Given the description of an element on the screen output the (x, y) to click on. 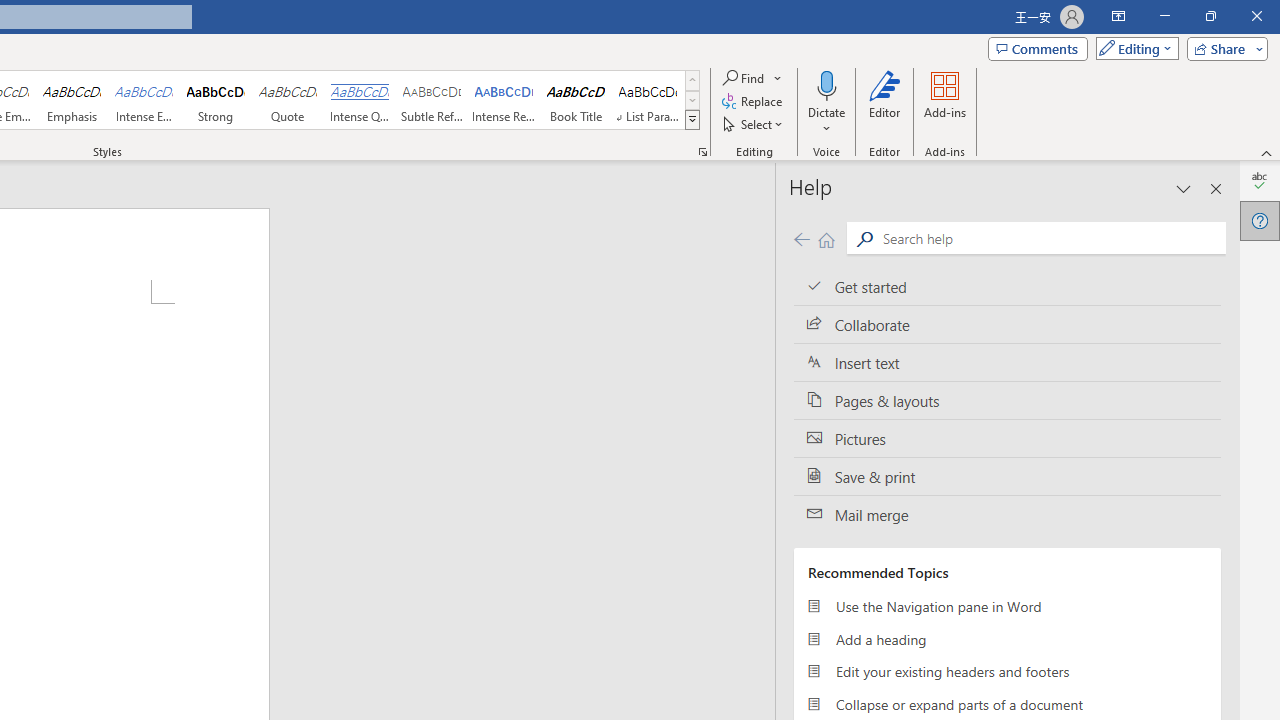
Previous page (801, 238)
Insert text (1007, 363)
Add a heading (1007, 638)
Use the Navigation pane in Word (1007, 605)
Emphasis (71, 100)
